Given the description of an element on the screen output the (x, y) to click on. 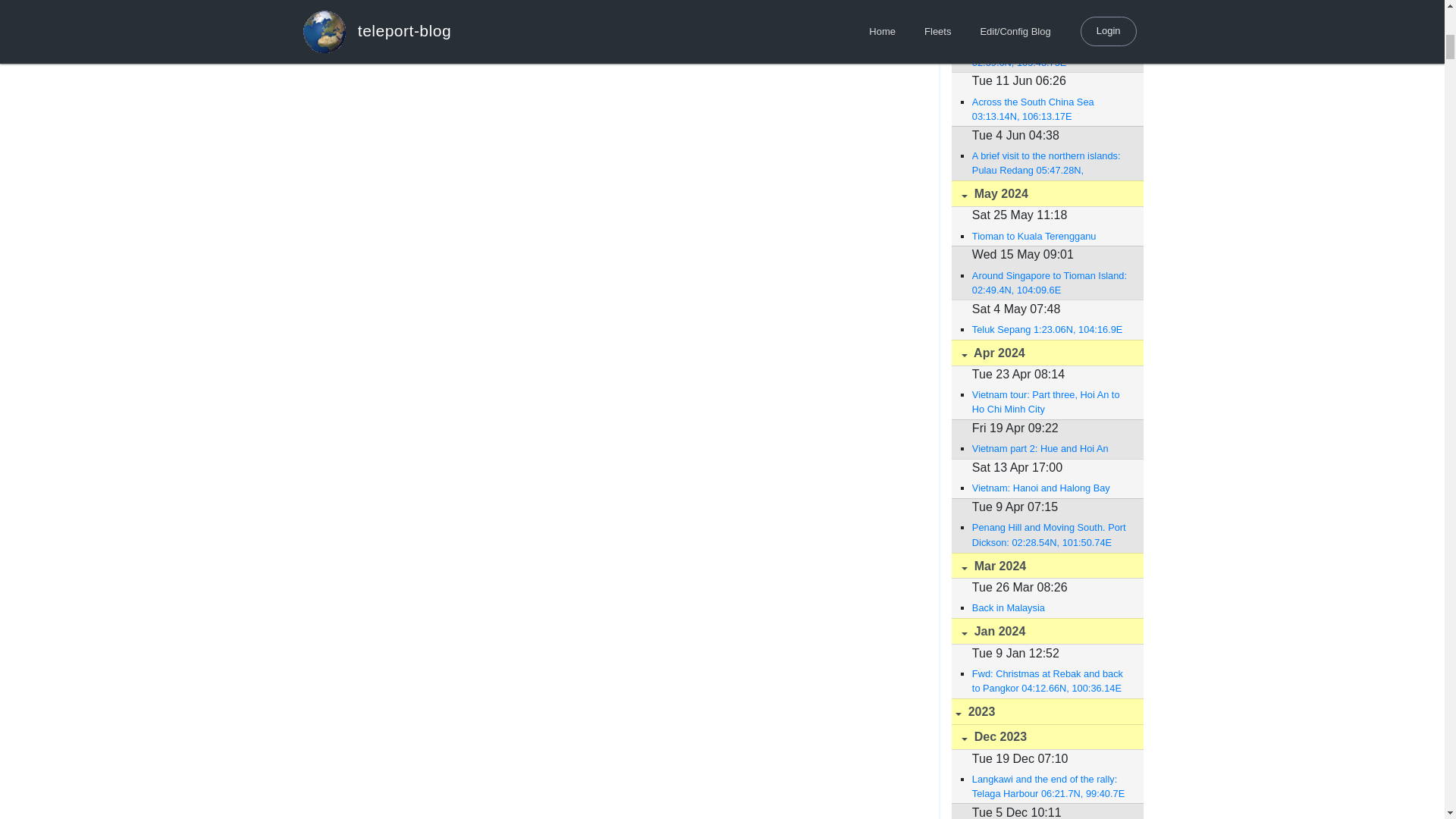
Across the South China Sea 03:13.14N, 106:13.17E (1050, 109)
Teluk Sepang 1:23.06N, 104:16.9E (1050, 329)
Vietnam tour: Part three, Hoi An to Ho Chi Minh City (1050, 401)
Tioman to Kuala Terengganu (1050, 236)
Around Singapore to Tioman Island: 02:49.4N, 104:09.6E (1050, 282)
Apr 2024 (1046, 352)
May 2024 (1046, 193)
Exploring the Anambas Isalnds: 02:59.6N, 105:43.75E (1050, 54)
Anambas to Miri via Natuna 04:23.1N 113:58.3E (1050, 7)
